Given the description of an element on the screen output the (x, y) to click on. 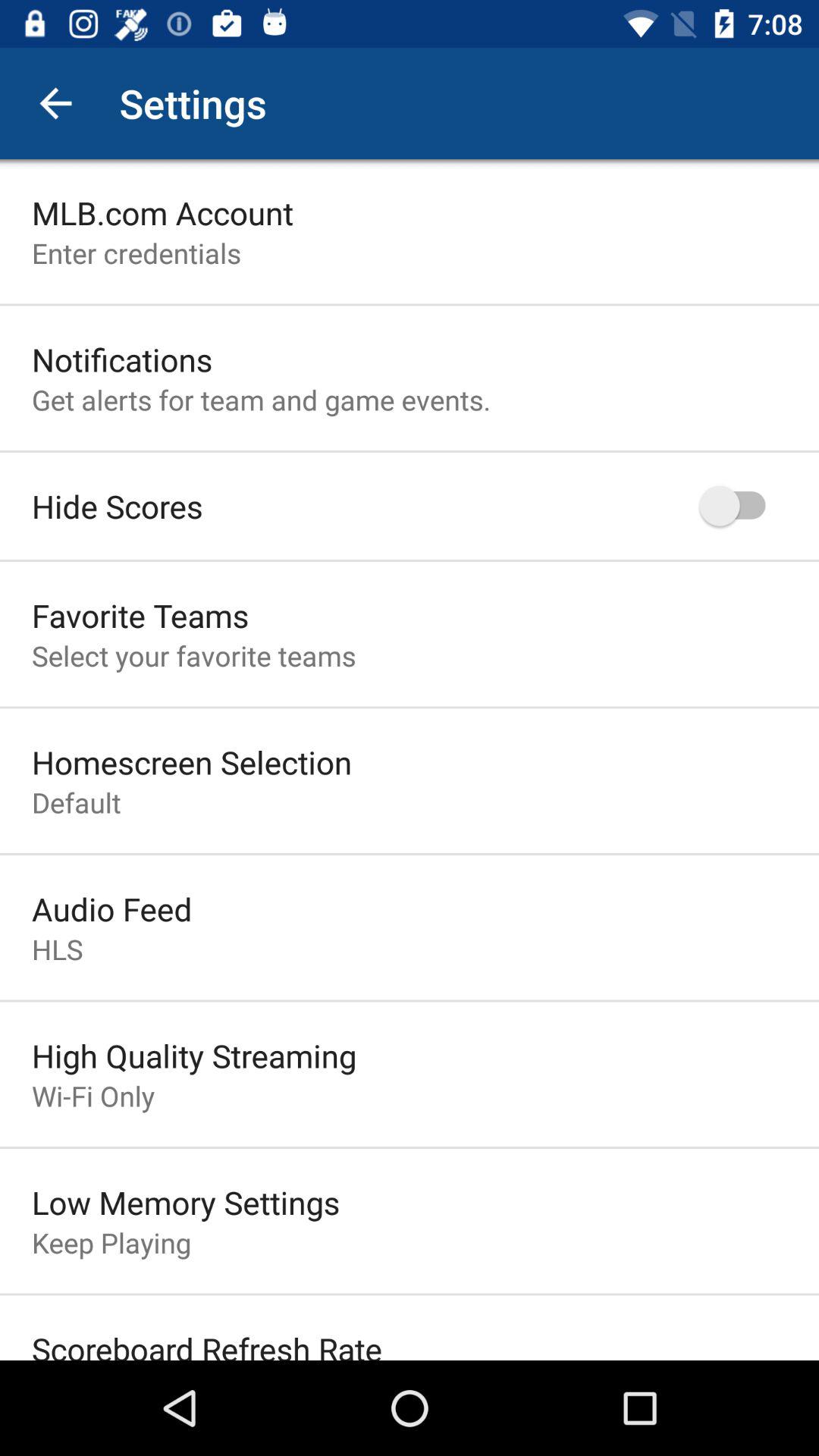
open item below the get alerts for item (117, 505)
